Given the description of an element on the screen output the (x, y) to click on. 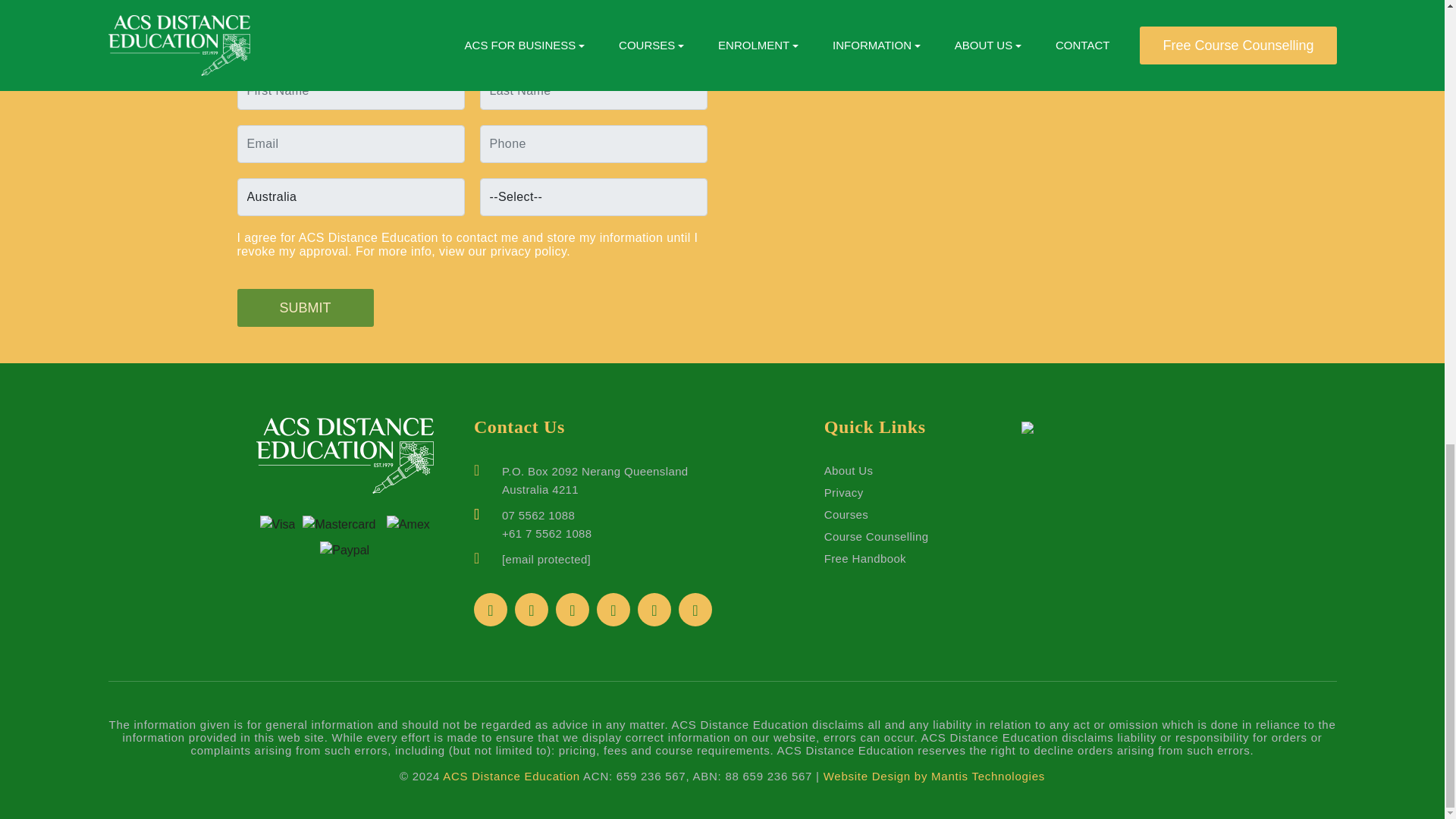
SUBMIT (303, 307)
